Given the description of an element on the screen output the (x, y) to click on. 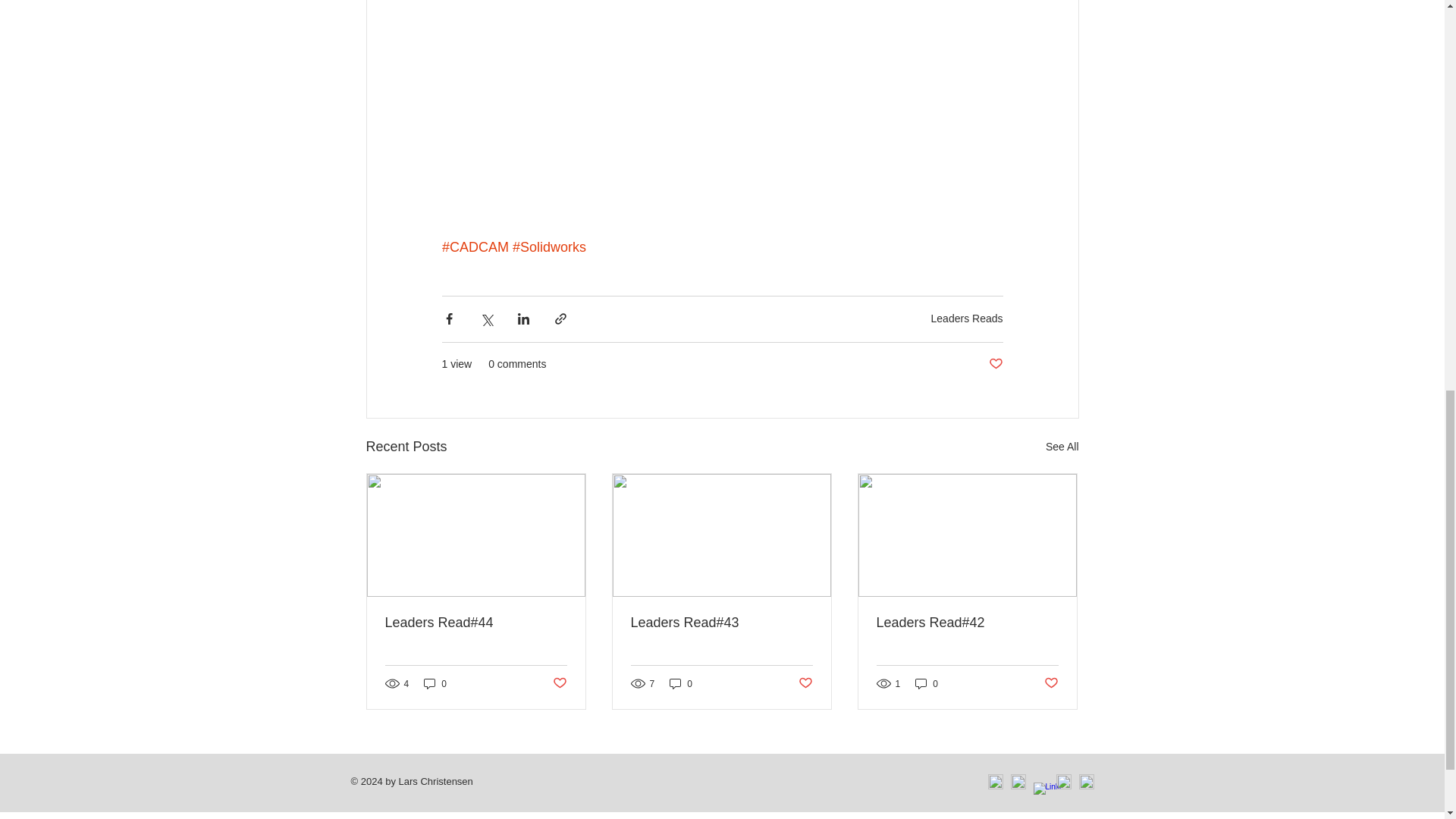
0 (435, 683)
Post not marked as liked (1050, 683)
Post not marked as liked (995, 364)
See All (1061, 446)
Post not marked as liked (558, 683)
Post not marked as liked (804, 683)
0 (681, 683)
Leaders Reads (967, 318)
0 (926, 683)
